Given the description of an element on the screen output the (x, y) to click on. 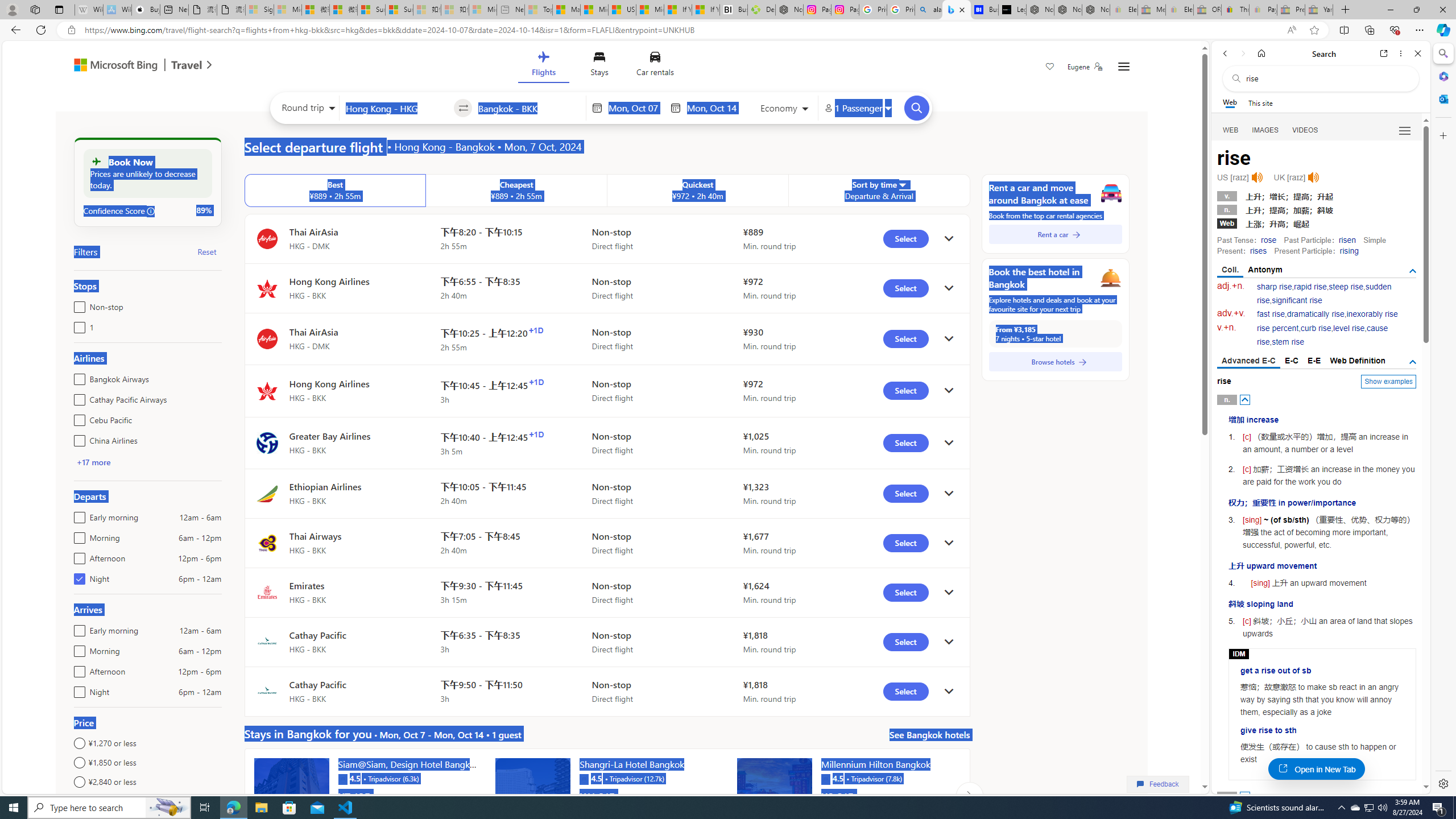
rapid rise (1310, 286)
Press Room - eBay Inc. - Sleeping (1291, 9)
sudden rise (1323, 293)
Cathay Pacific Airways (76, 397)
sharp rise (1274, 286)
